Given the description of an element on the screen output the (x, y) to click on. 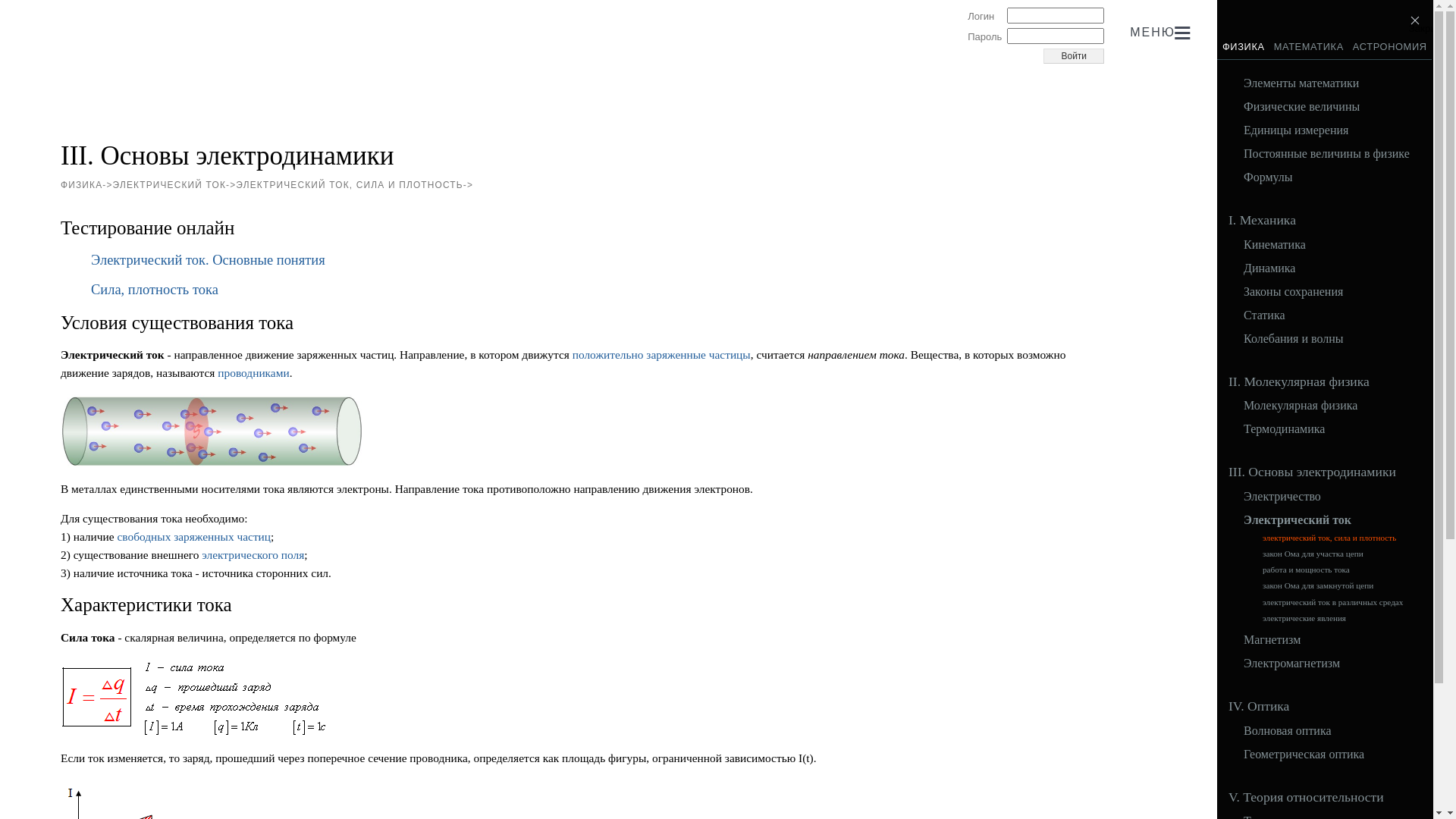
Advertisement Element type: hover (336, 100)
